Given the description of an element on the screen output the (x, y) to click on. 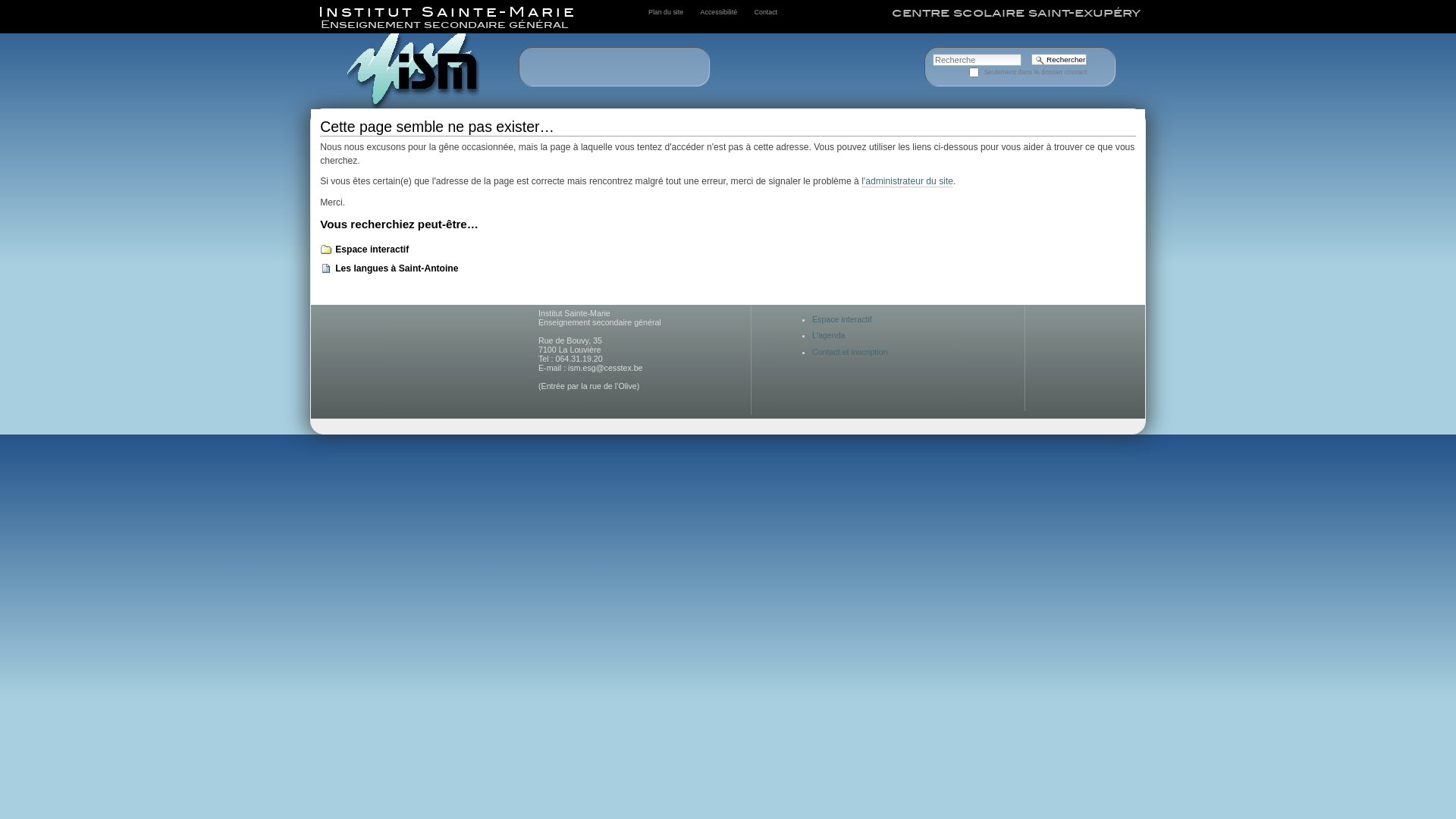
Rechercher Element type: text (1058, 59)
Espace interactif Element type: text (371, 249)
Contact et inscription Element type: text (850, 351)
Contact Element type: text (765, 11)
L'agenda Element type: text (828, 334)
l'administrateur du site Element type: text (907, 181)
Espace interactif Element type: text (842, 318)
Recherche Element type: hover (976, 59)
Plan du site Element type: text (665, 11)
